Given the description of an element on the screen output the (x, y) to click on. 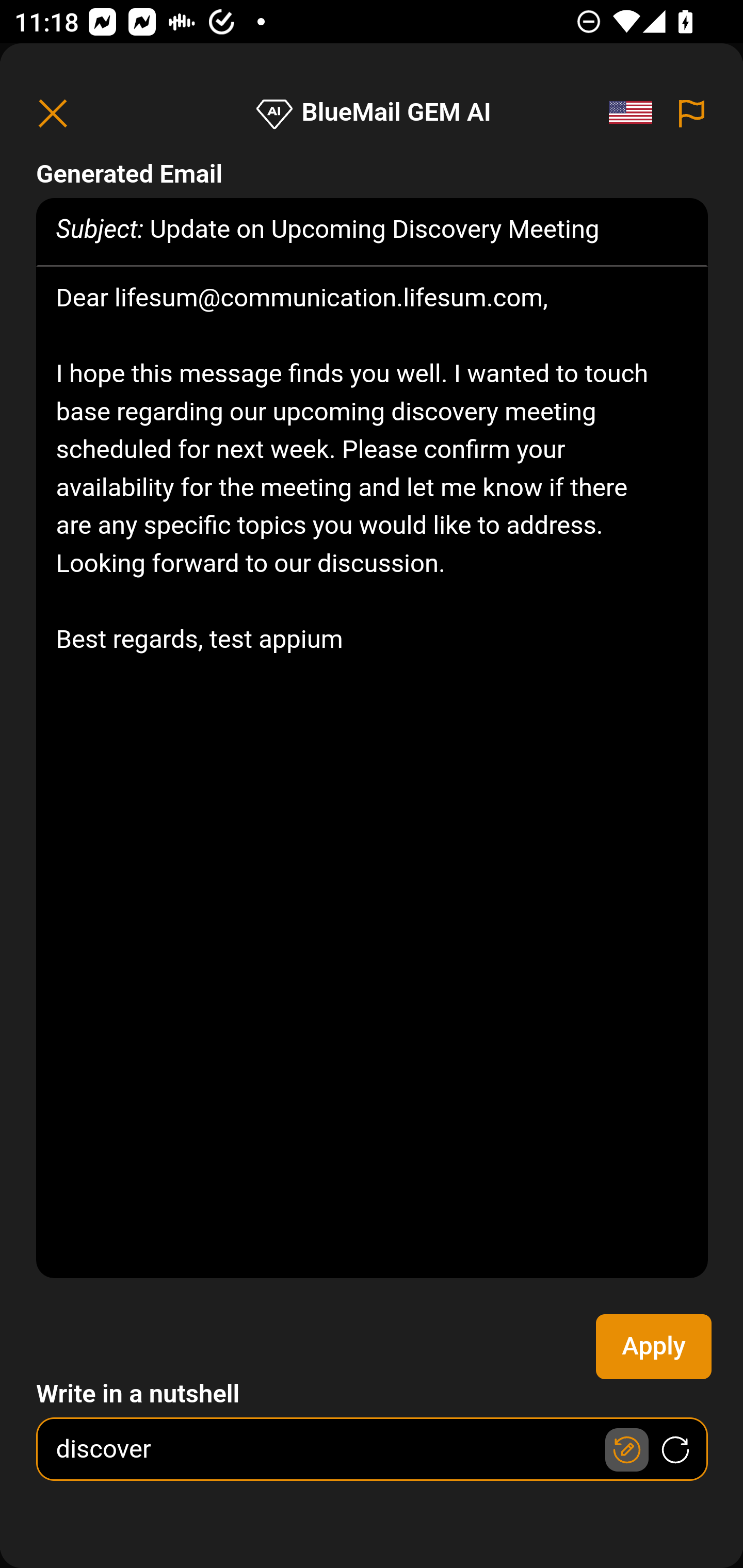
svg%3e (636, 113)
Report (692, 113)
Apply (654, 1346)
discover (372, 1449)
